Given the description of an element on the screen output the (x, y) to click on. 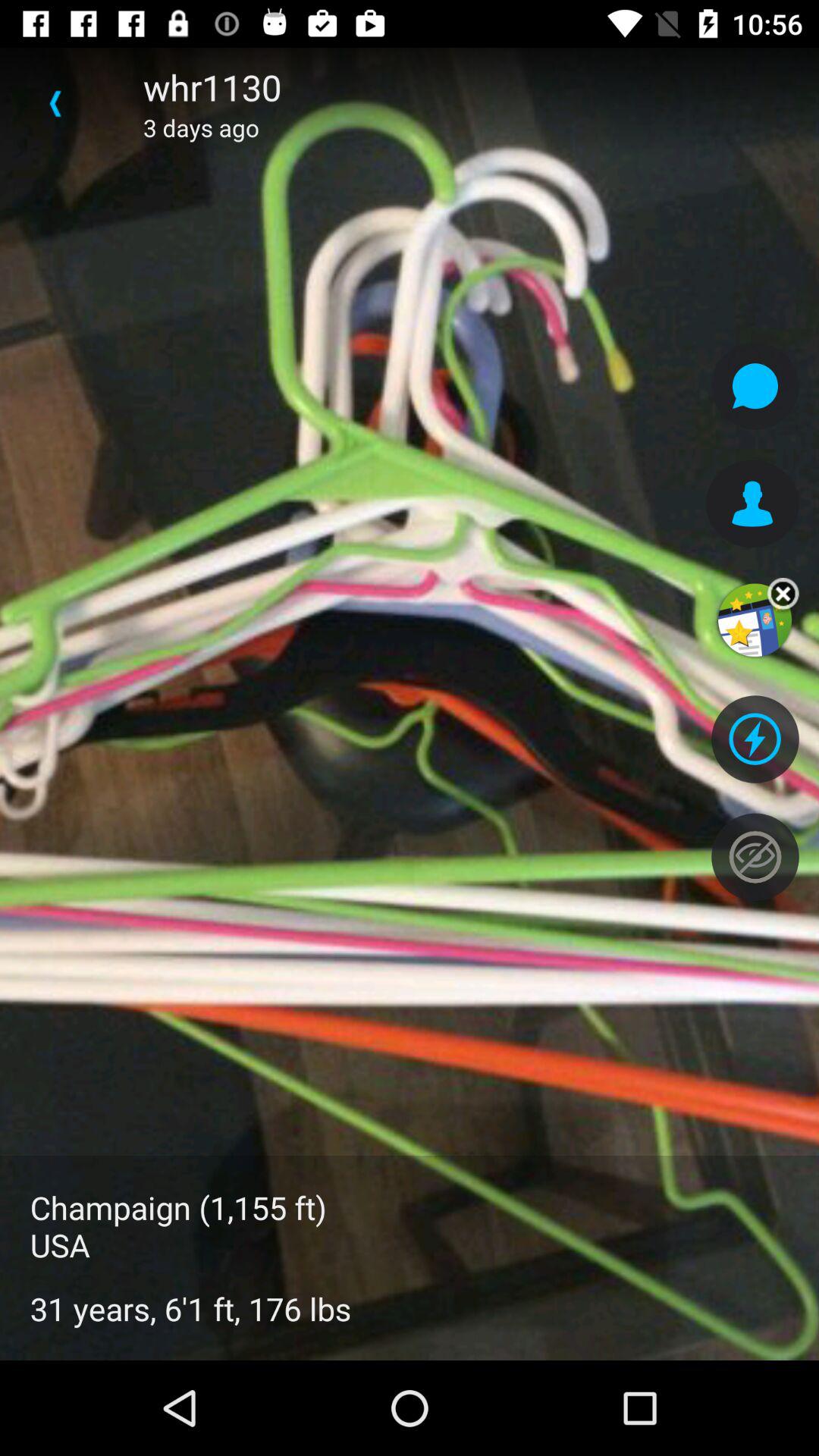
click the icon next to whr1130 (55, 103)
